Given the description of an element on the screen output the (x, y) to click on. 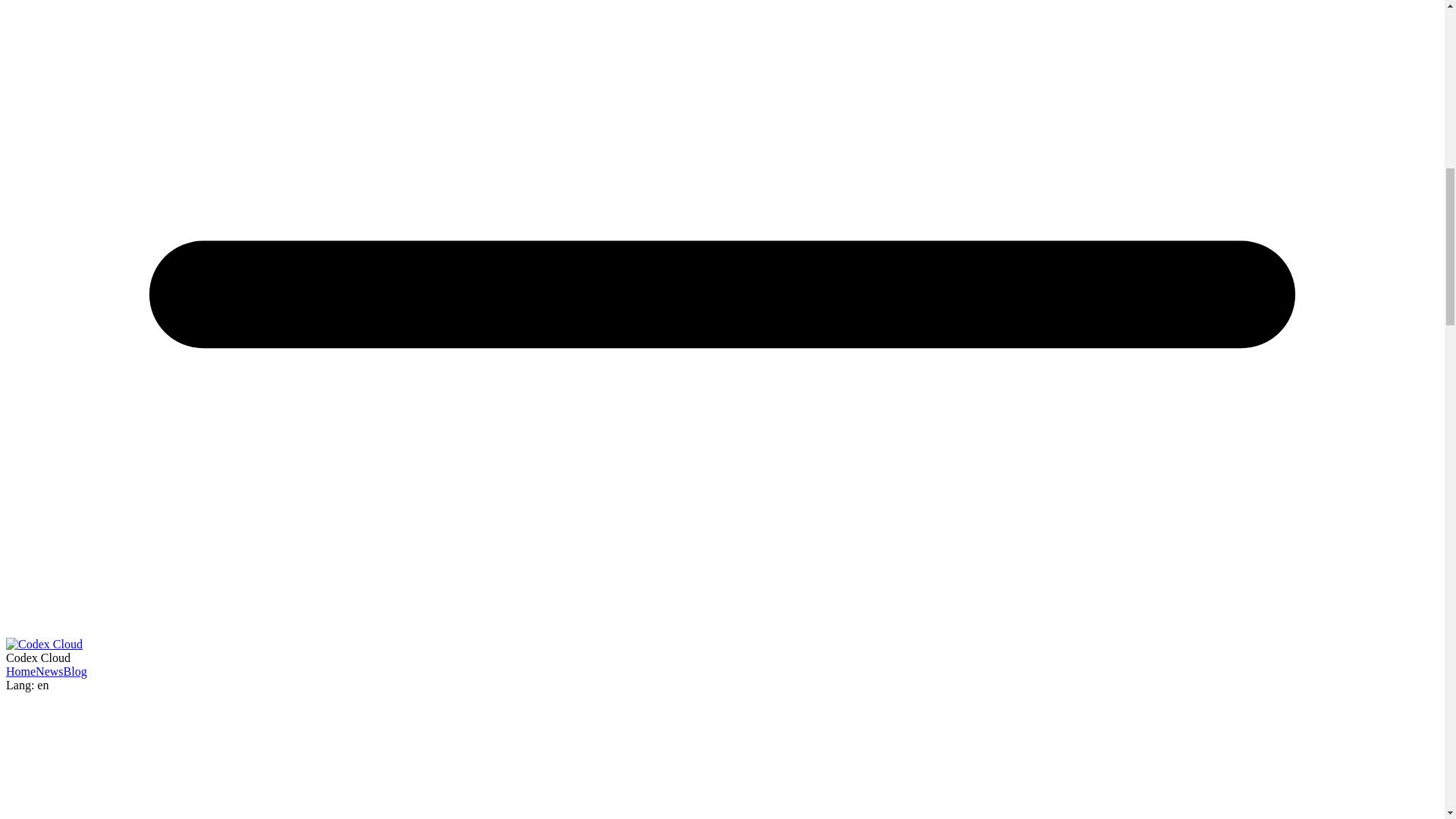
Home (19, 671)
Blog (75, 671)
News (48, 671)
